Given the description of an element on the screen output the (x, y) to click on. 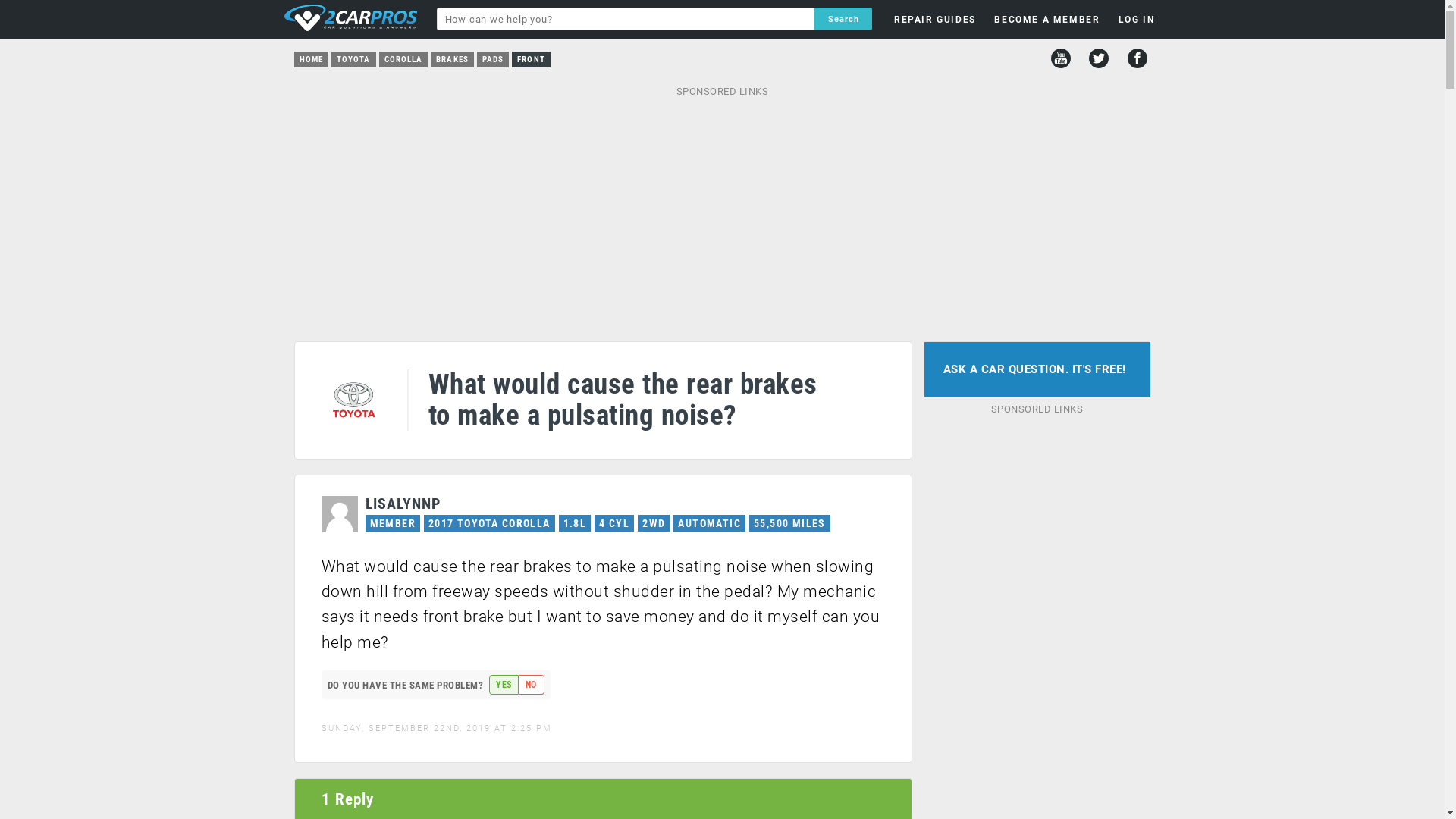
Search Element type: text (843, 18)
Twitter Element type: hover (1098, 58)
PADS Element type: text (492, 59)
BECOME A MEMBER Element type: text (1046, 19)
YouTube Element type: hover (1060, 58)
Advertisement Element type: hover (721, 212)
LOG IN Element type: text (1136, 19)
HOME Element type: text (311, 59)
LOG IN Element type: text (1047, 240)
REPAIR GUIDES Element type: text (934, 19)
Facebook Element type: hover (1136, 58)
COROLLA Element type: text (403, 59)
TOYOTA Element type: text (353, 59)
BRAKES Element type: text (451, 59)
ASK A CAR QUESTION. IT'S FREE! Element type: text (1036, 369)
FRONT Element type: text (530, 59)
